Given the description of an element on the screen output the (x, y) to click on. 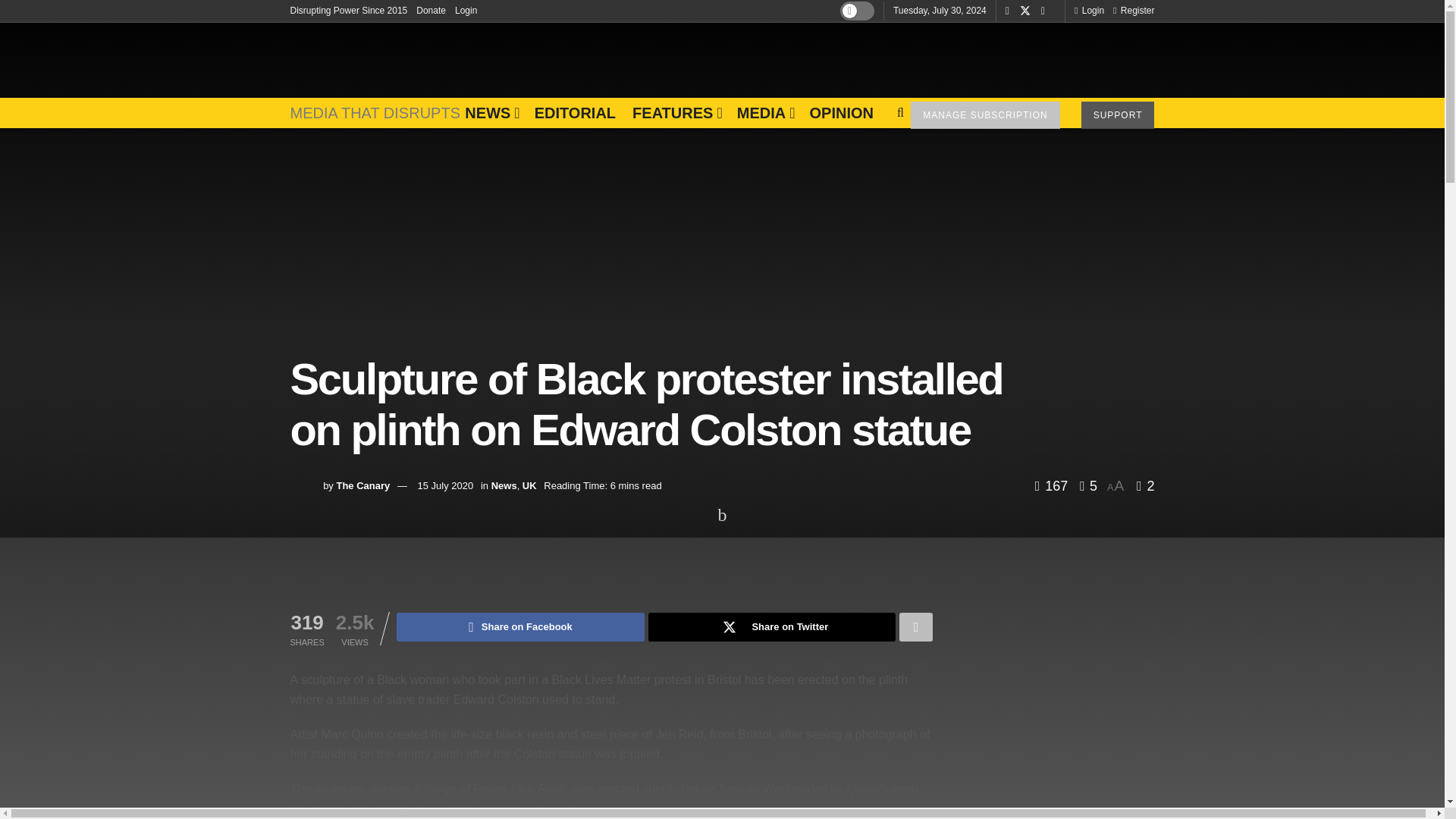
FEATURES (675, 112)
SUPPORT (1117, 114)
Donate (430, 11)
EDITORIAL (574, 112)
Disrupting Power Since 2015 (348, 11)
MANAGE SUBSCRIPTION (985, 114)
MEDIA (764, 112)
NEWS (490, 112)
Login (1088, 11)
OPINION (840, 112)
Login (465, 11)
Register (1133, 11)
